Given the description of an element on the screen output the (x, y) to click on. 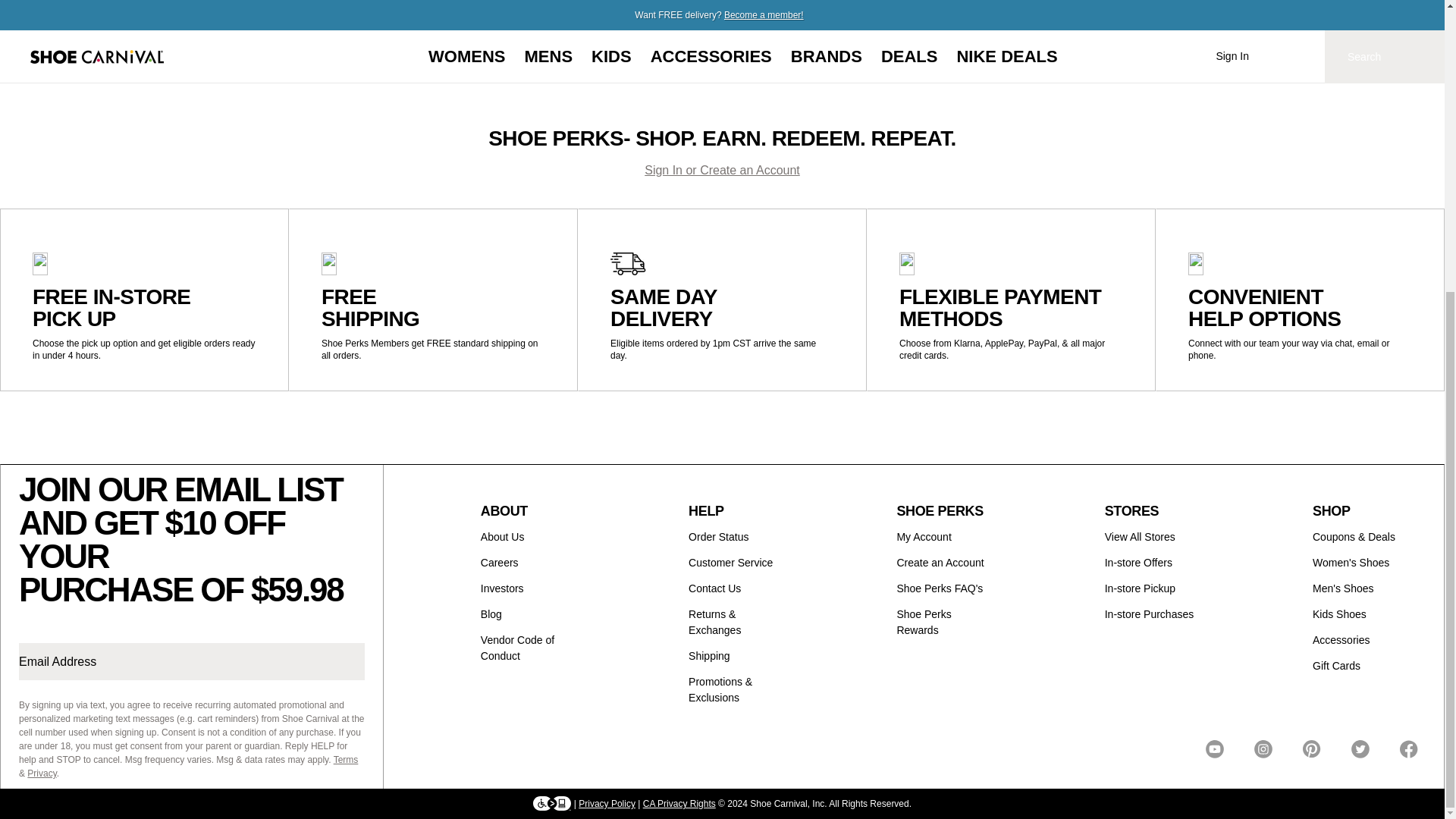
Vendor Code of Conduct (517, 647)
Careers (499, 562)
Shipping (709, 655)
Start Shopping (722, 10)
Order Status (718, 536)
Create an Account (940, 562)
Sign In or Create an Account (722, 169)
Shoe Carnival Privacy Policy (606, 803)
Contact Us (714, 588)
My Account (923, 536)
